Given the description of an element on the screen output the (x, y) to click on. 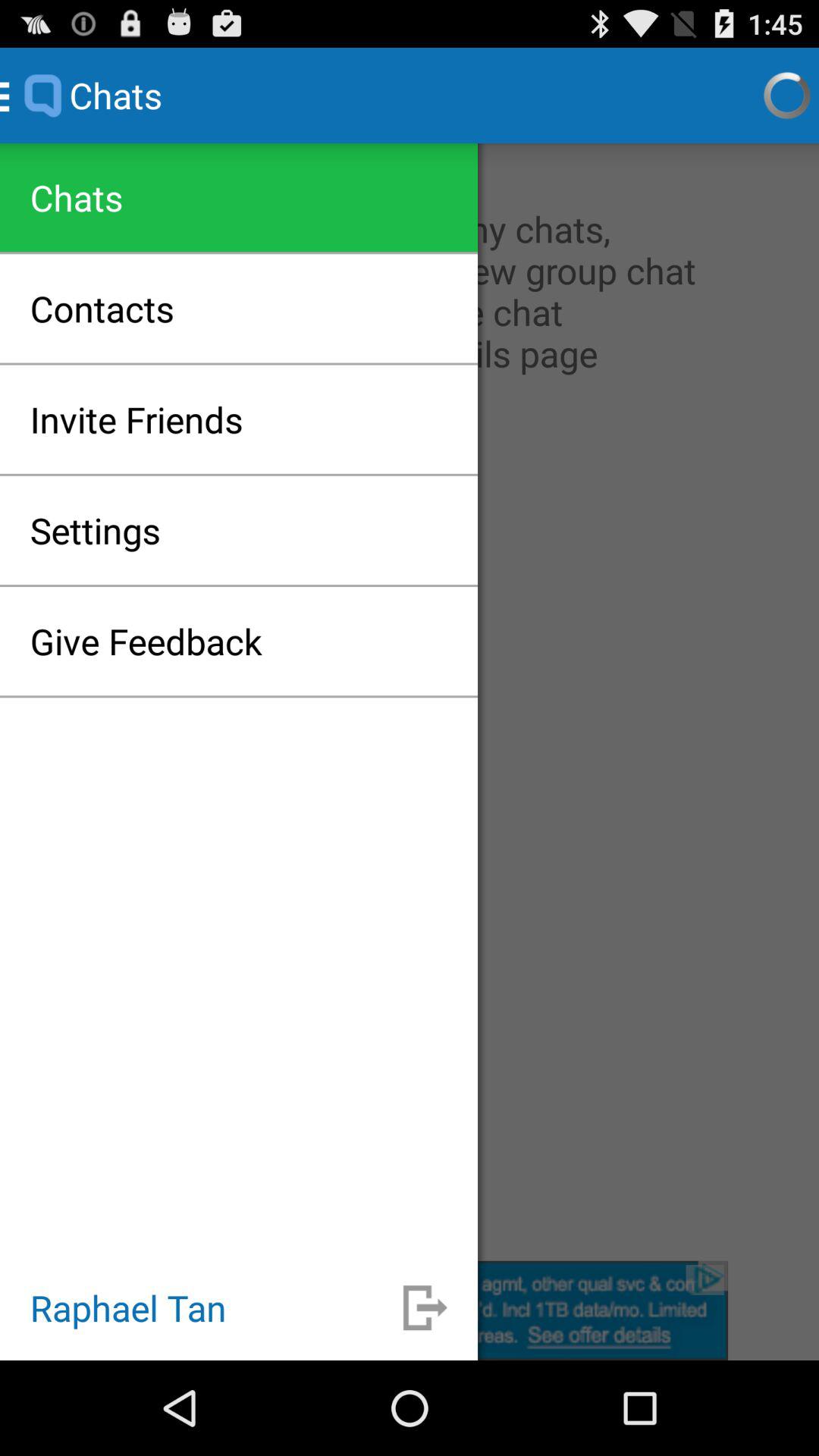
select the chat options (409, 701)
